Given the description of an element on the screen output the (x, y) to click on. 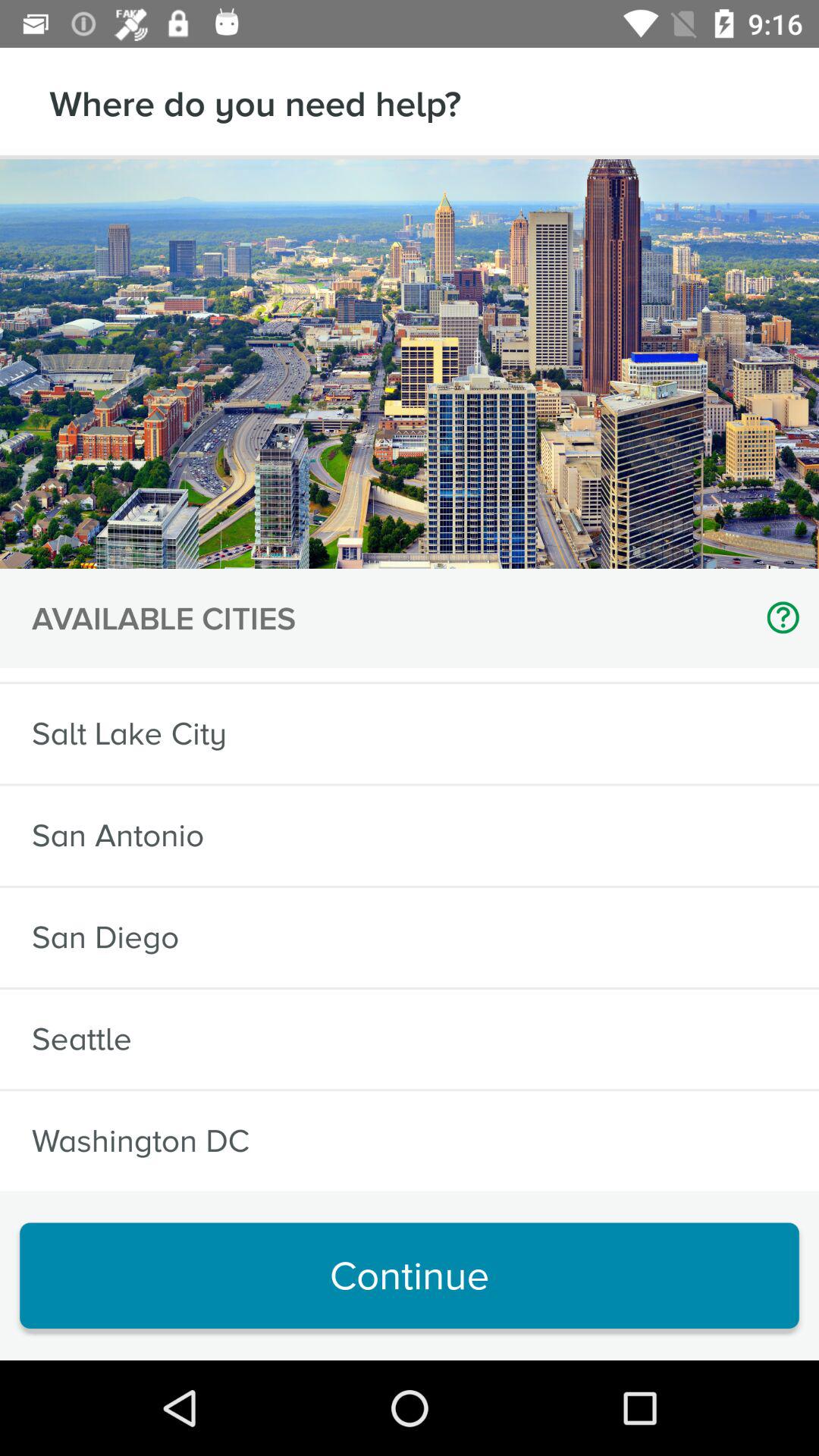
press the washington dc icon (140, 1140)
